Given the description of an element on the screen output the (x, y) to click on. 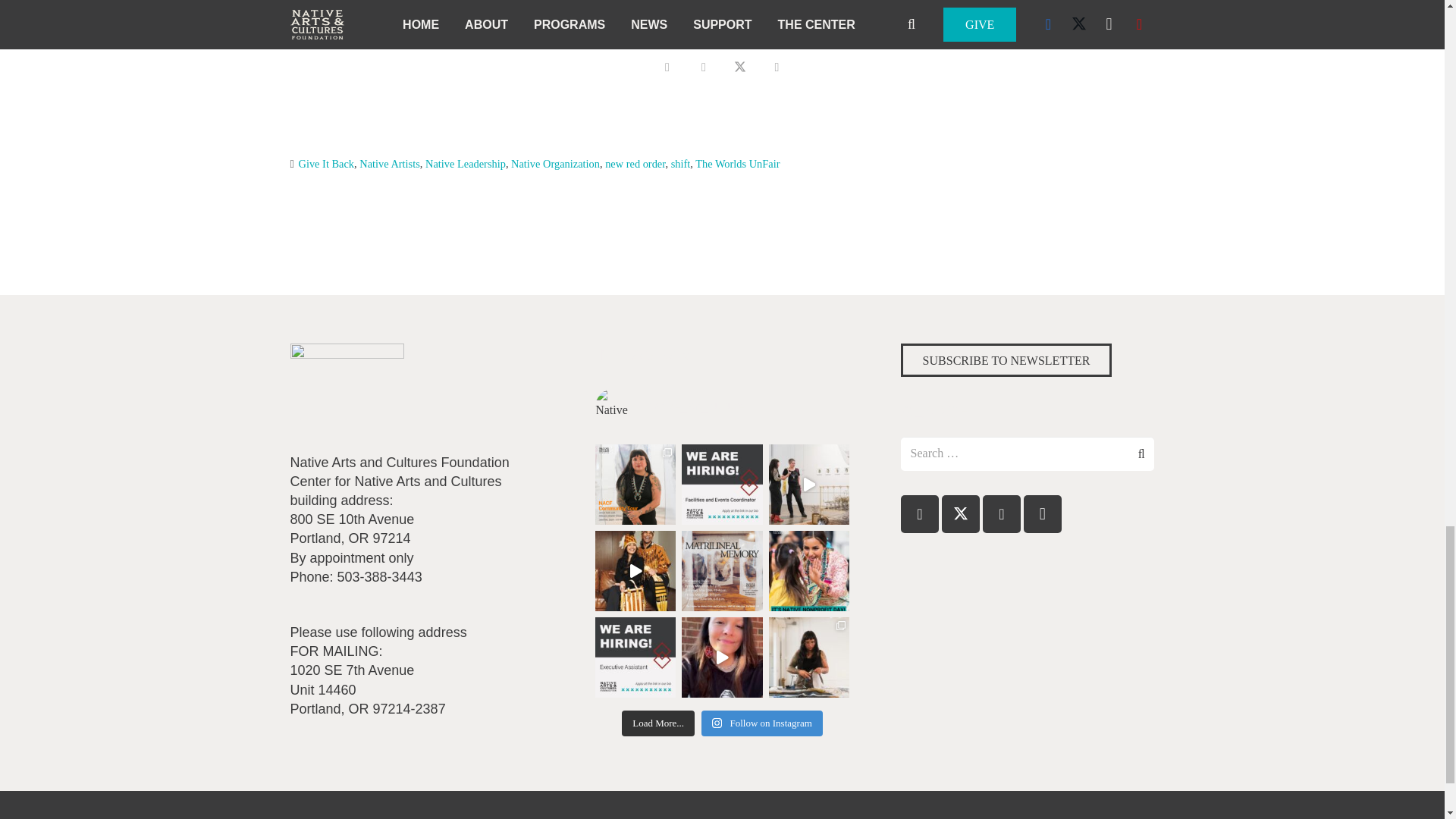
Share this (703, 67)
Instagram (1042, 514)
Facebook (920, 514)
Share this (776, 67)
Twitter (960, 514)
Email this (667, 67)
YouTube (1001, 514)
Tweet this (740, 67)
